Given the description of an element on the screen output the (x, y) to click on. 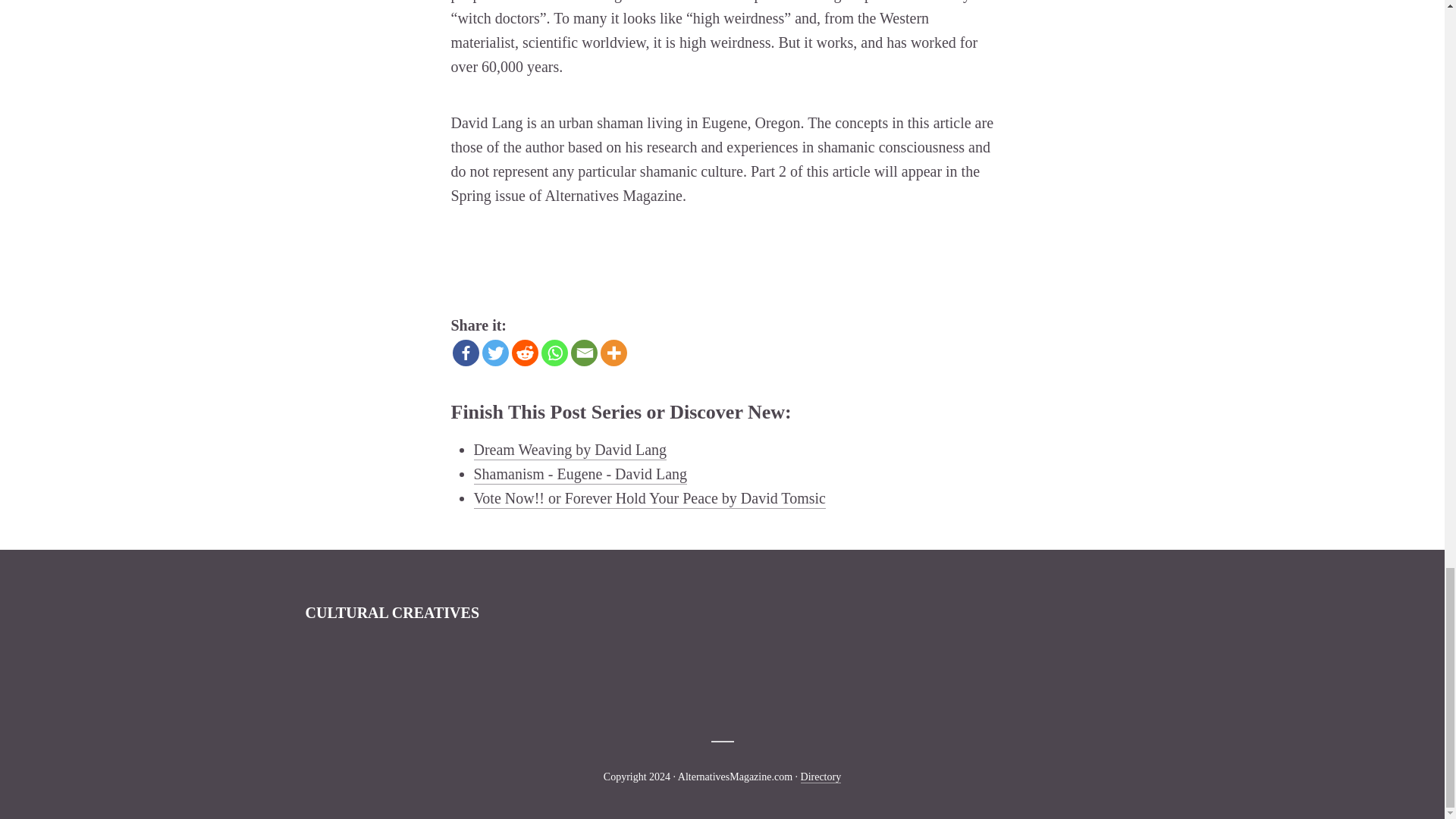
Rural Road Trip (921, 670)
Sky, Land and Water (726, 670)
Directory (820, 776)
The Lady in Pink (856, 670)
Facebook (465, 352)
Email (583, 352)
Reddit (524, 352)
A View to the Farm (465, 670)
Calf Roper (530, 670)
Hot Springs Resort Boat House (334, 670)
